Given the description of an element on the screen output the (x, y) to click on. 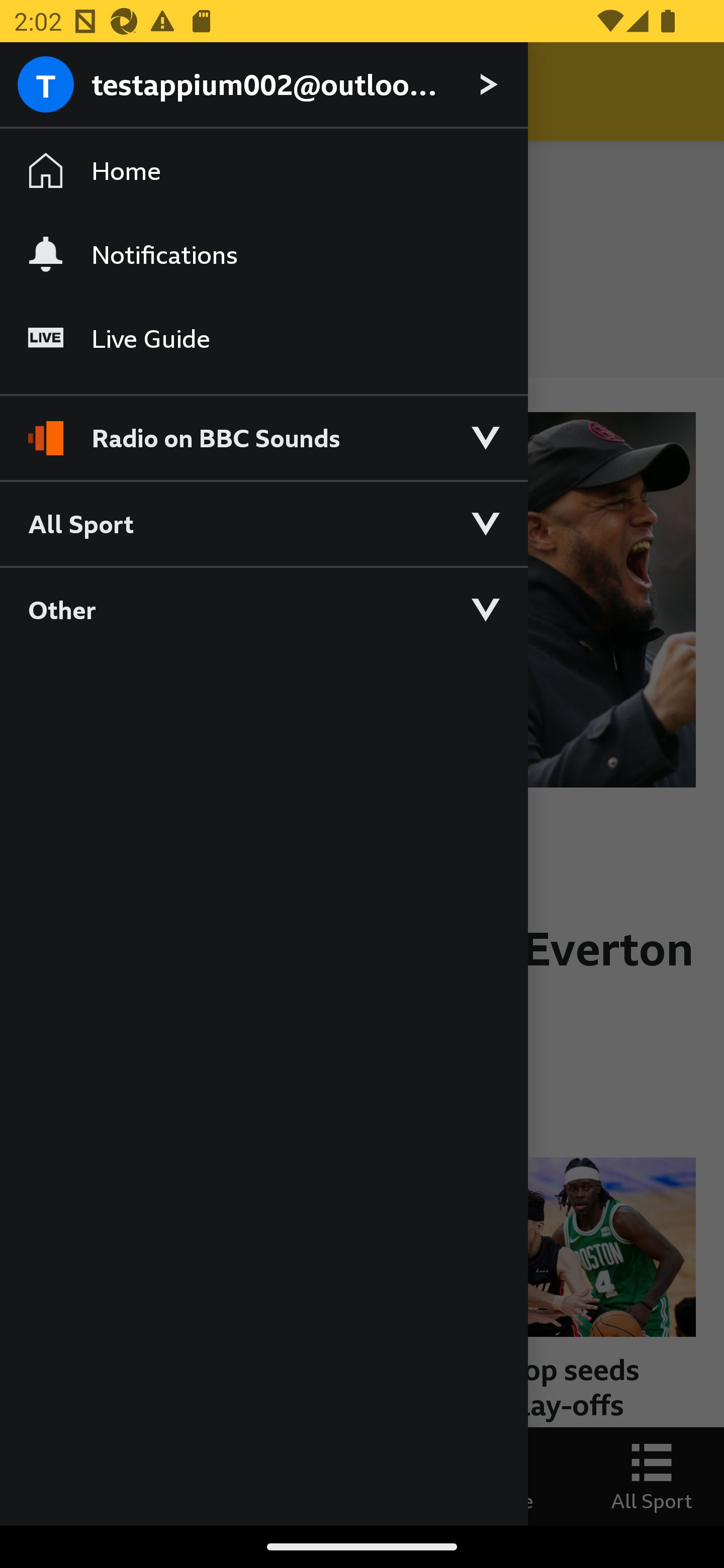
testappium002@outlook.com (263, 85)
Home (263, 170)
Notifications (263, 253)
Live Guide (263, 338)
Radio on BBC Sounds (263, 429)
All Sport (263, 522)
Other (263, 609)
